Given the description of an element on the screen output the (x, y) to click on. 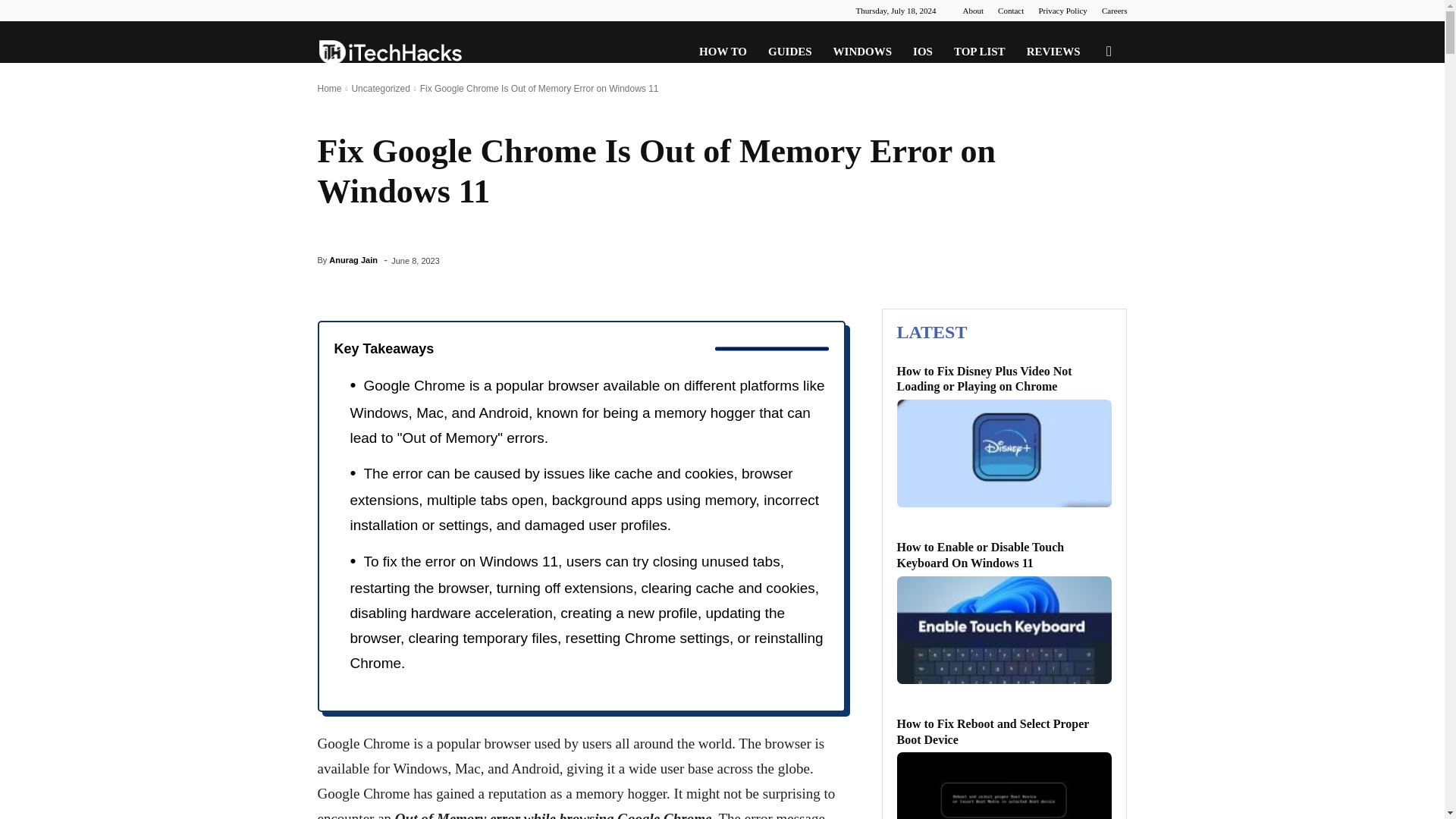
Search (1085, 124)
Facebook (328, 10)
IOS (922, 51)
Contact (1010, 10)
Uncategorized (379, 88)
Pinterest (353, 10)
Anurag Jain (353, 259)
Home (328, 88)
About (973, 10)
GUIDES (789, 51)
Youtube (403, 10)
TOP LIST (979, 51)
HOW TO (722, 51)
View all posts in Uncategorized (379, 88)
